Given the description of an element on the screen output the (x, y) to click on. 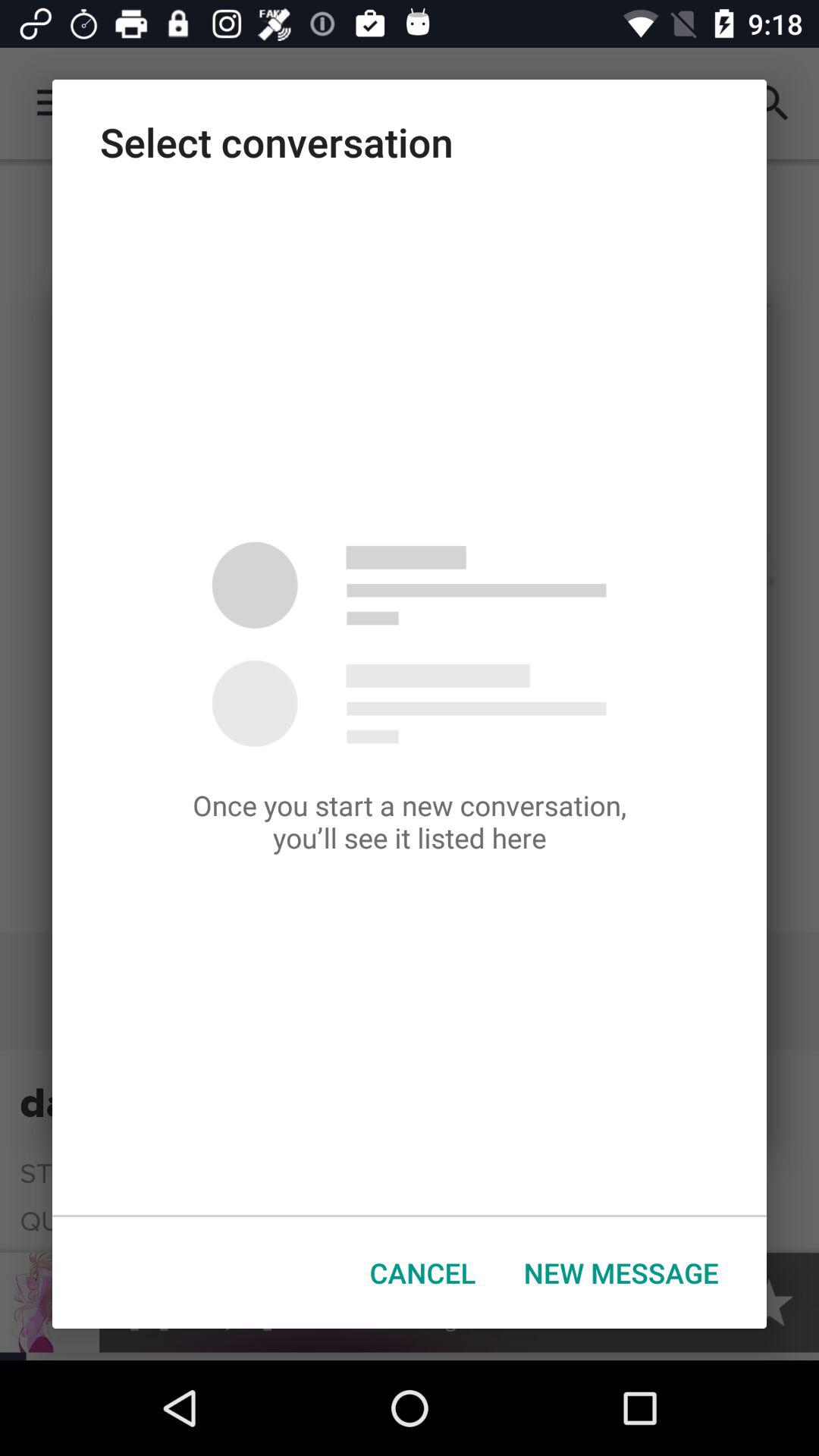
press button next to cancel button (620, 1272)
